Given the description of an element on the screen output the (x, y) to click on. 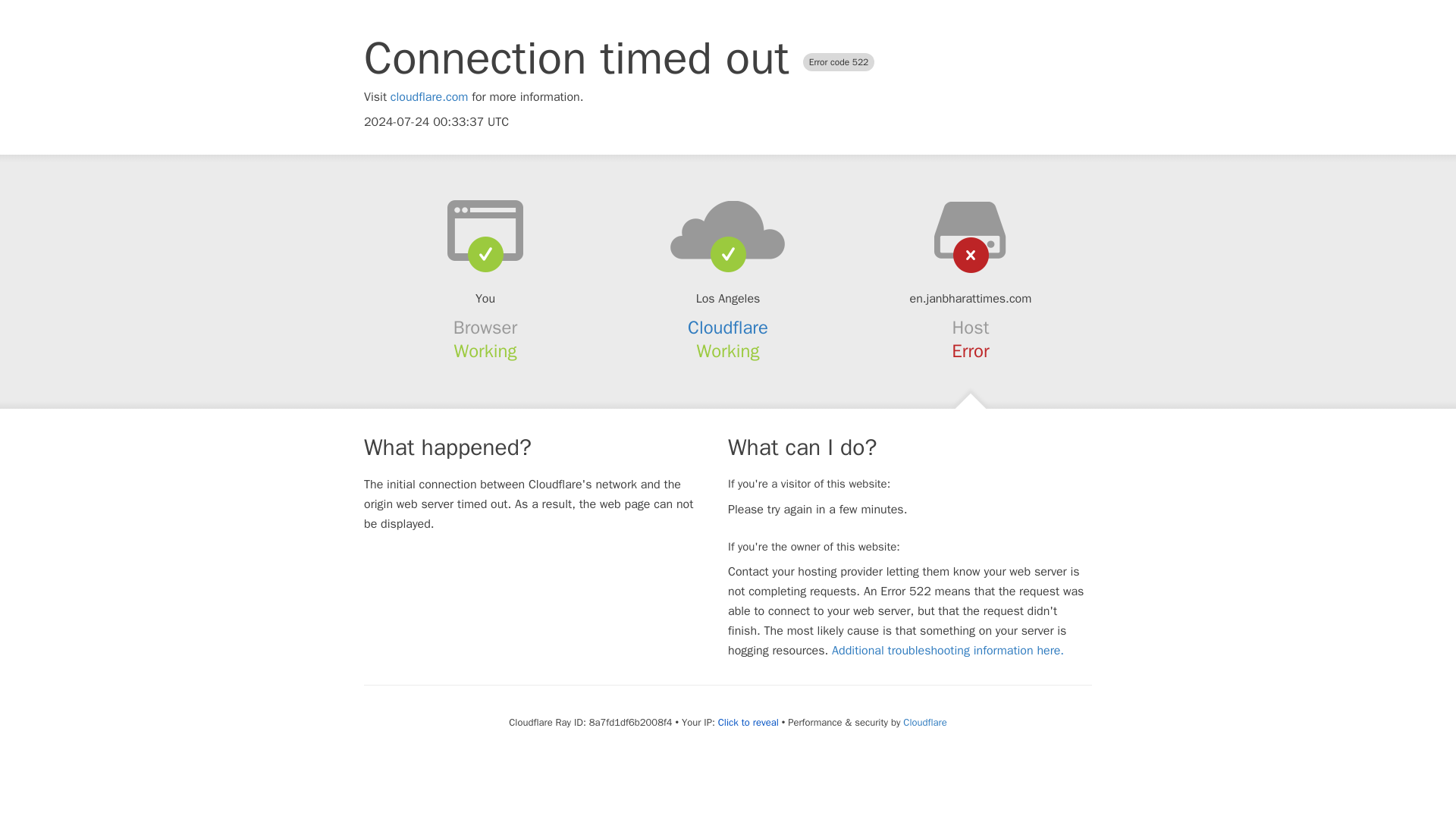
Additional troubleshooting information here. (947, 650)
cloudflare.com (429, 96)
Cloudflare (727, 327)
Click to reveal (747, 722)
Cloudflare (924, 721)
